Given the description of an element on the screen output the (x, y) to click on. 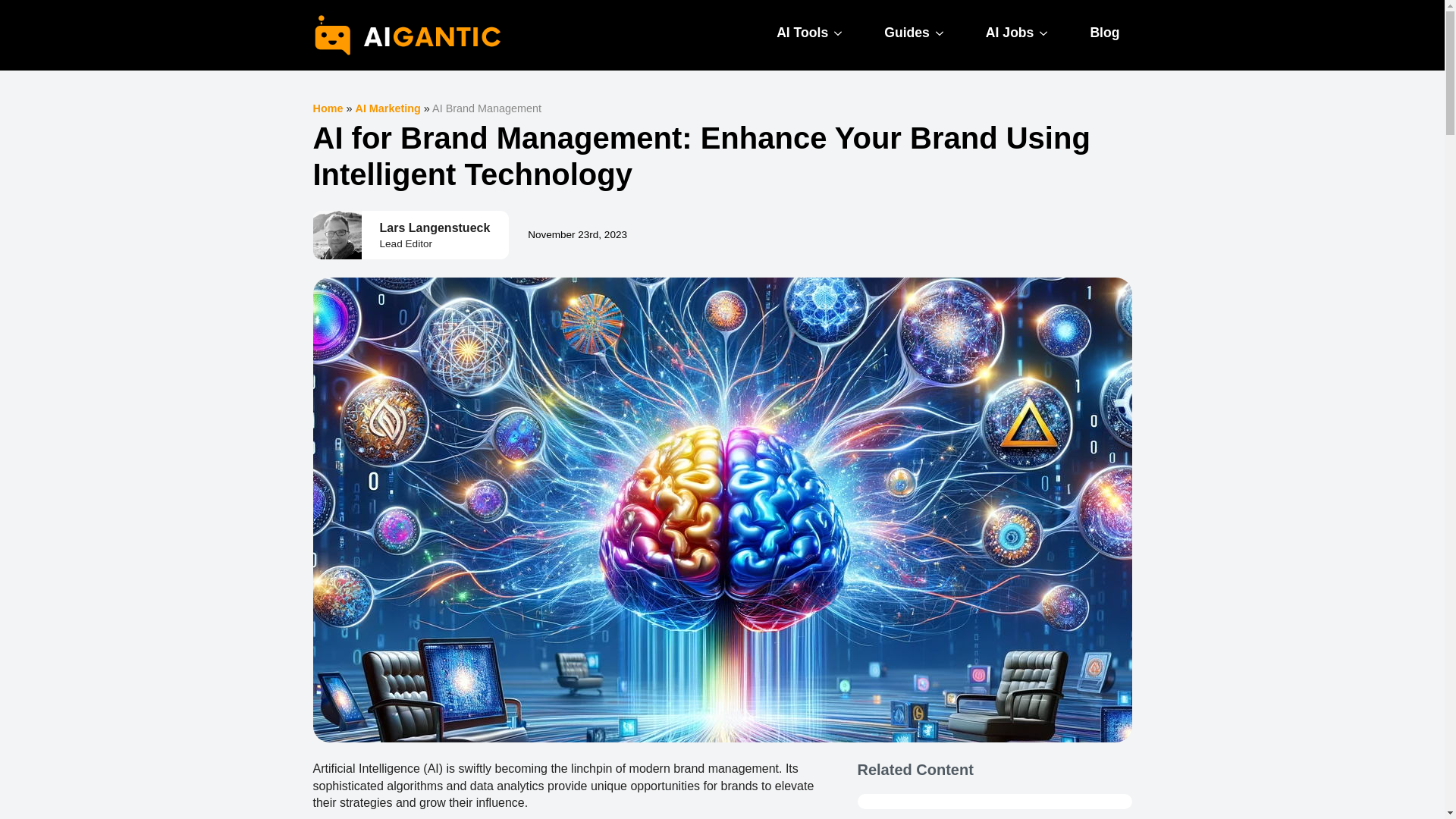
Guides (901, 32)
Blog (1104, 32)
AI Jobs (1003, 32)
AI Tools (796, 32)
Home (327, 108)
AI Marketing (387, 108)
